Given the description of an element on the screen output the (x, y) to click on. 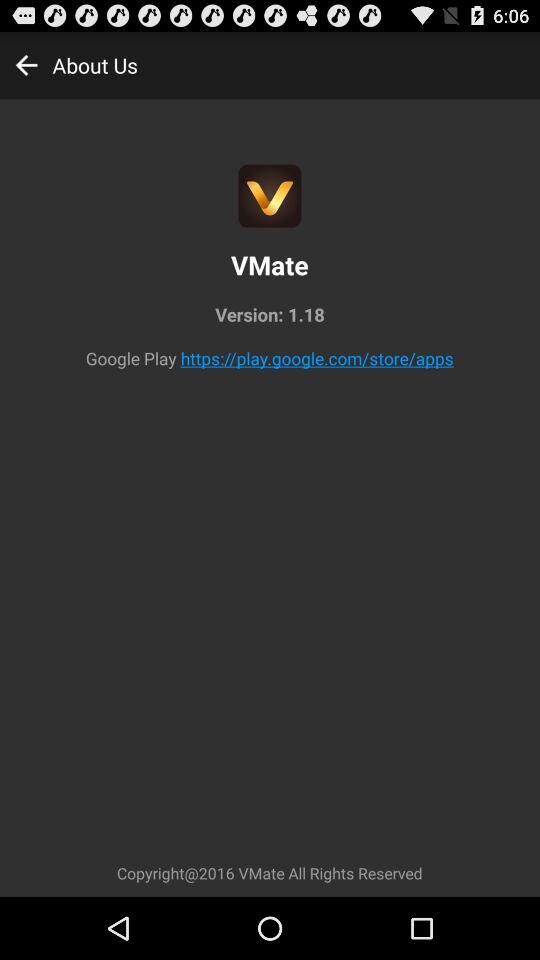
launch item above the copyright 2016 vmate icon (316, 357)
